Given the description of an element on the screen output the (x, y) to click on. 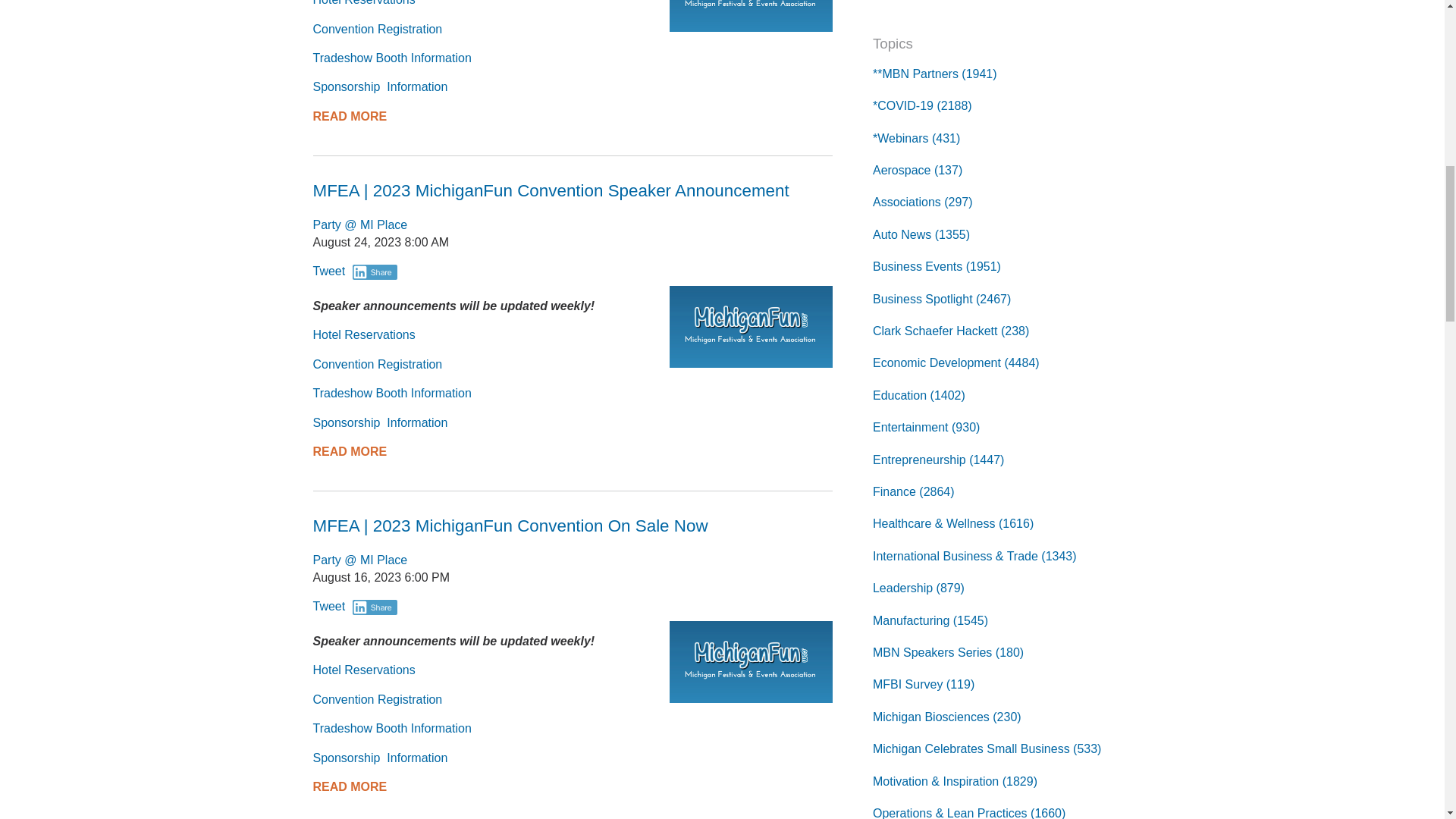
Hotel Reservations (363, 2)
Convention Registration (377, 29)
